Given the description of an element on the screen output the (x, y) to click on. 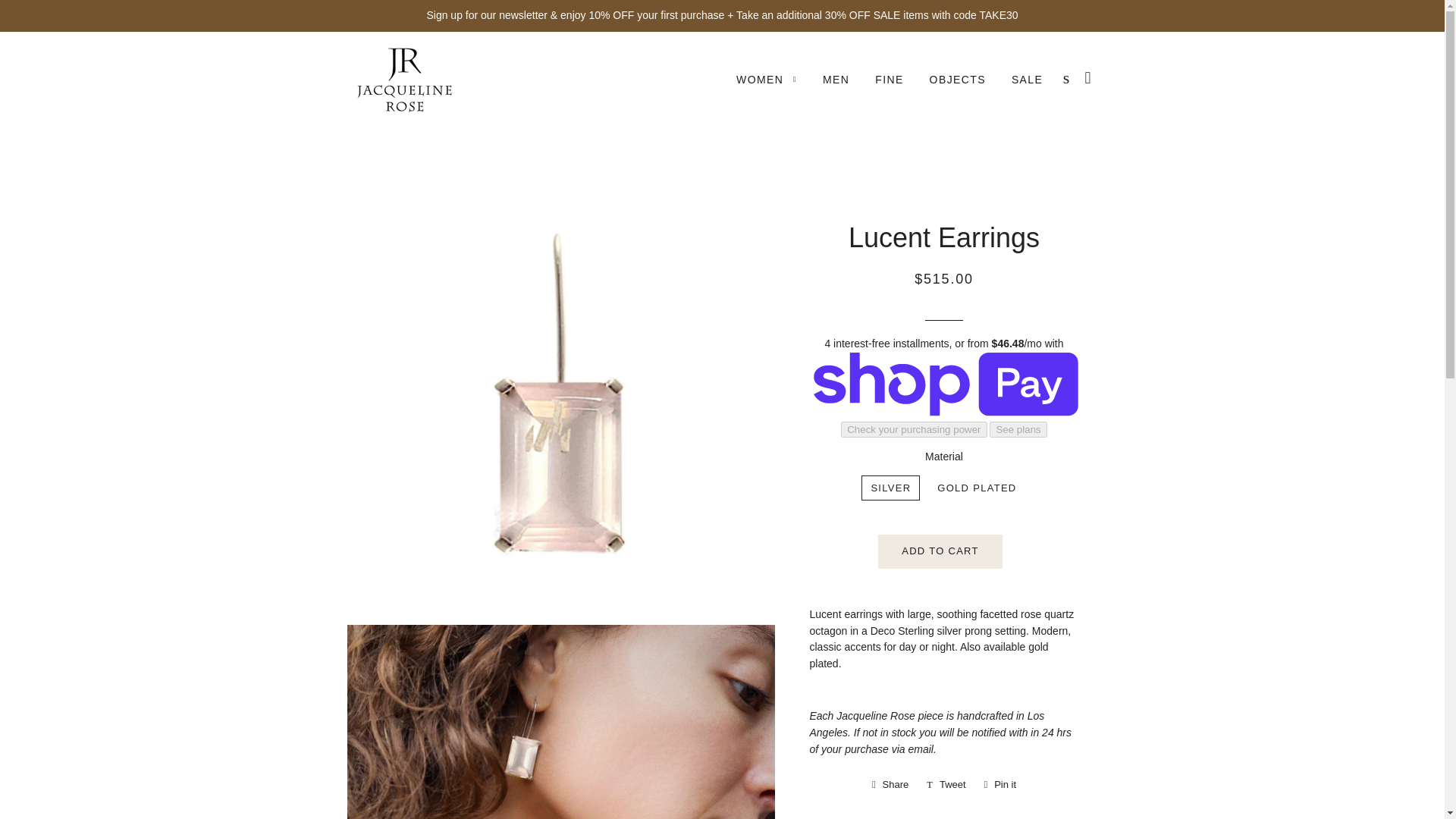
Tweet on Twitter (946, 784)
SALE (1027, 79)
WOMEN (766, 79)
MEN (835, 79)
Share on Facebook (889, 784)
Pin on Pinterest (889, 784)
FINE (1000, 784)
ADD TO CART (889, 79)
Gold plated (940, 551)
